Given the description of an element on the screen output the (x, y) to click on. 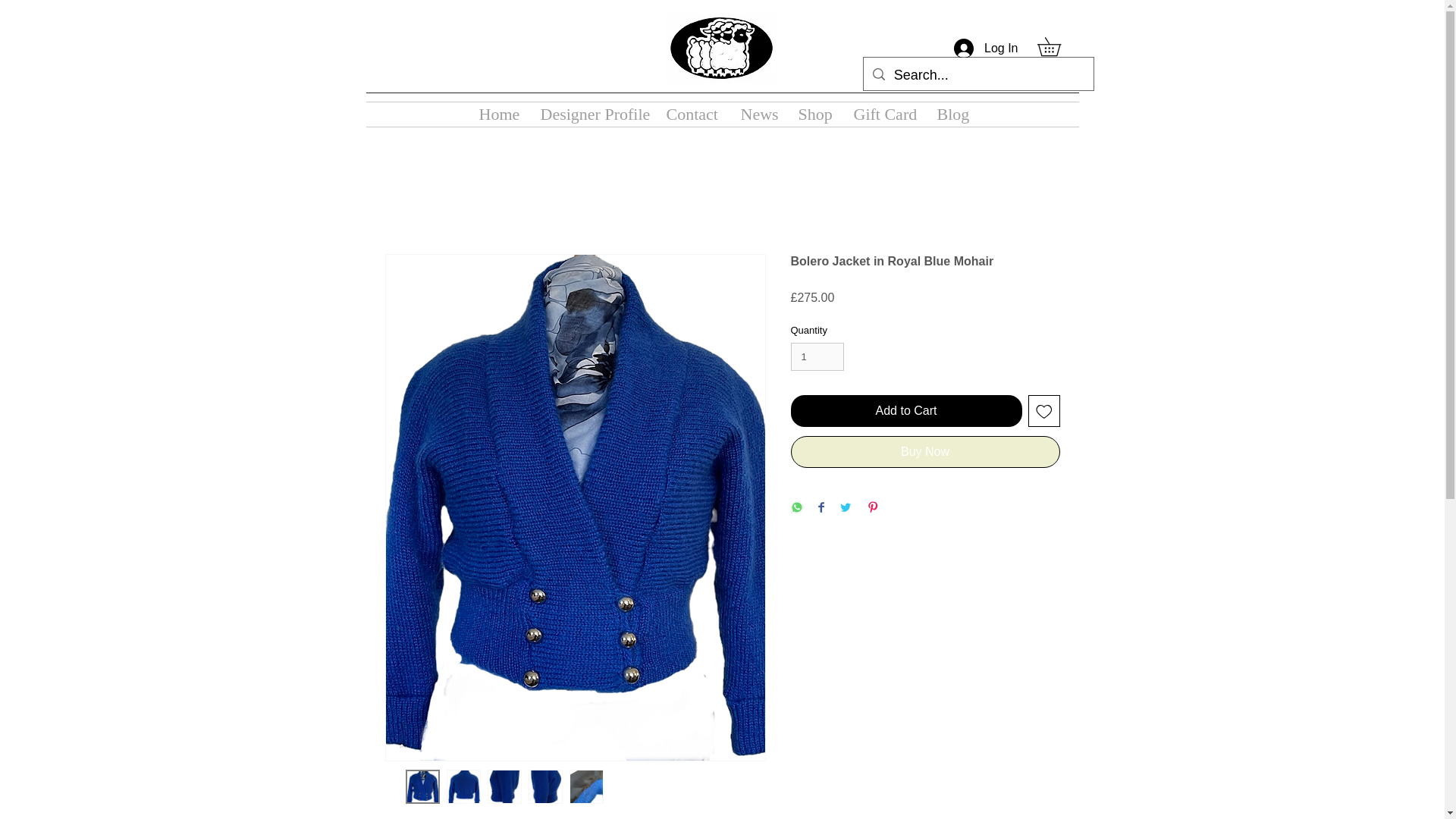
Buy Now (924, 451)
Blog (950, 114)
1 (817, 357)
Contact (692, 114)
Shop (815, 114)
Designer Profile (592, 114)
Gift Card (882, 114)
Angora Goats (721, 48)
Home (497, 114)
News (758, 114)
